Given the description of an element on the screen output the (x, y) to click on. 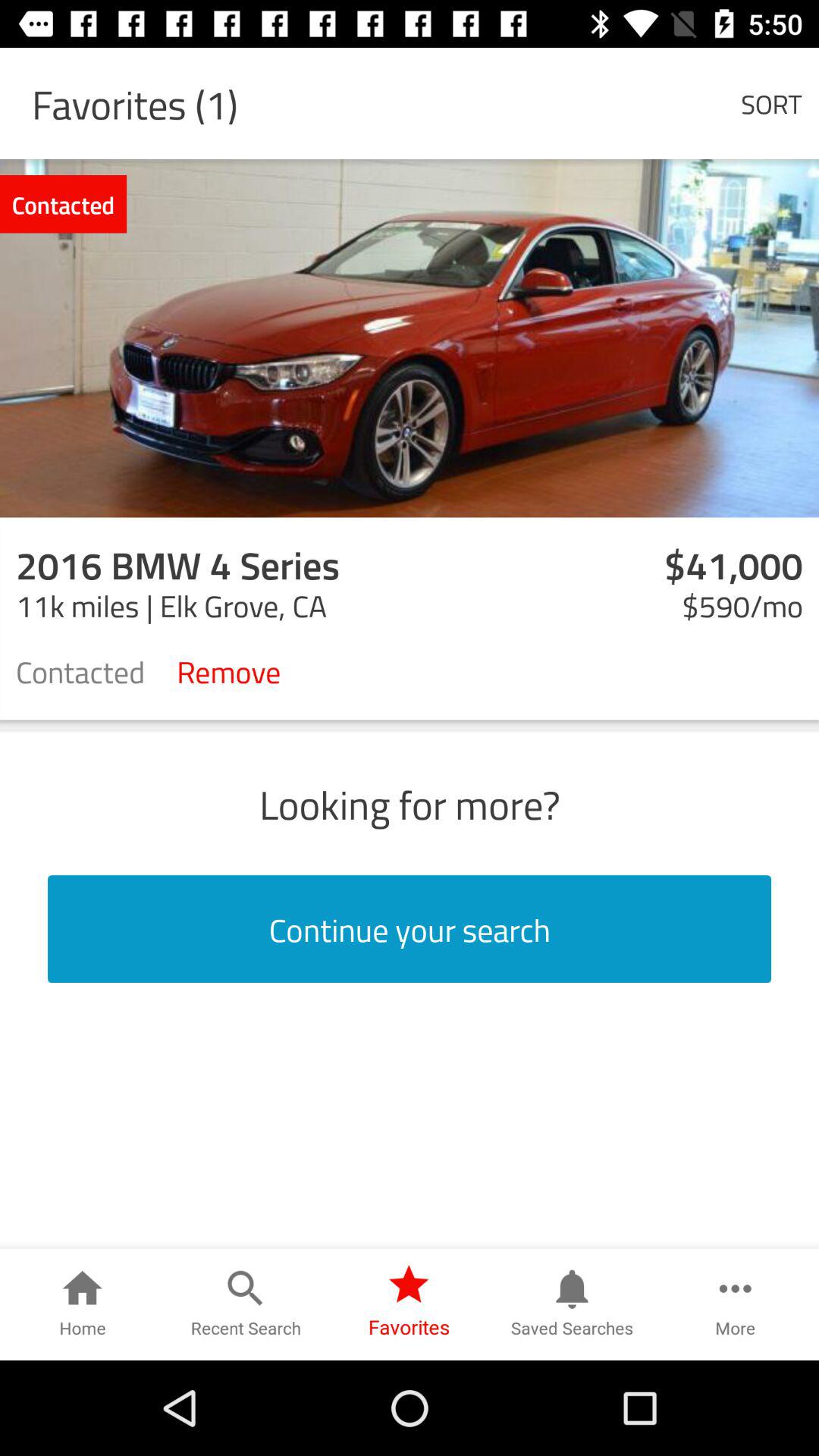
open the icon at the top right corner (771, 103)
